Given the description of an element on the screen output the (x, y) to click on. 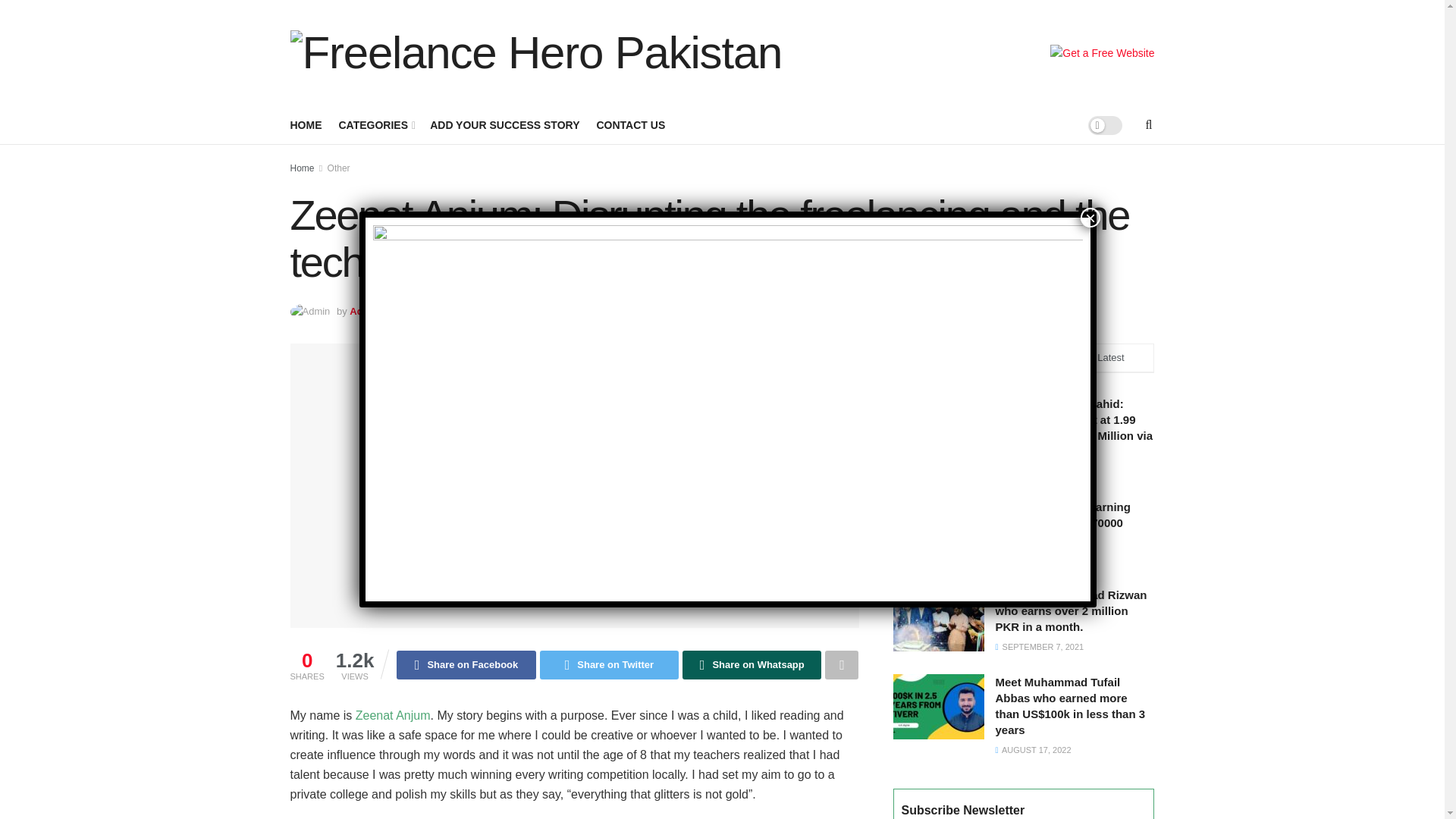
CATEGORIES (375, 124)
ADD YOUR SUCCESS STORY (504, 124)
Other (338, 167)
Admin (364, 310)
HOME (305, 124)
CONTACT US (630, 124)
October 24, 2021 (445, 310)
Home (301, 167)
Zeenat Anjum (392, 715)
